Given the description of an element on the screen output the (x, y) to click on. 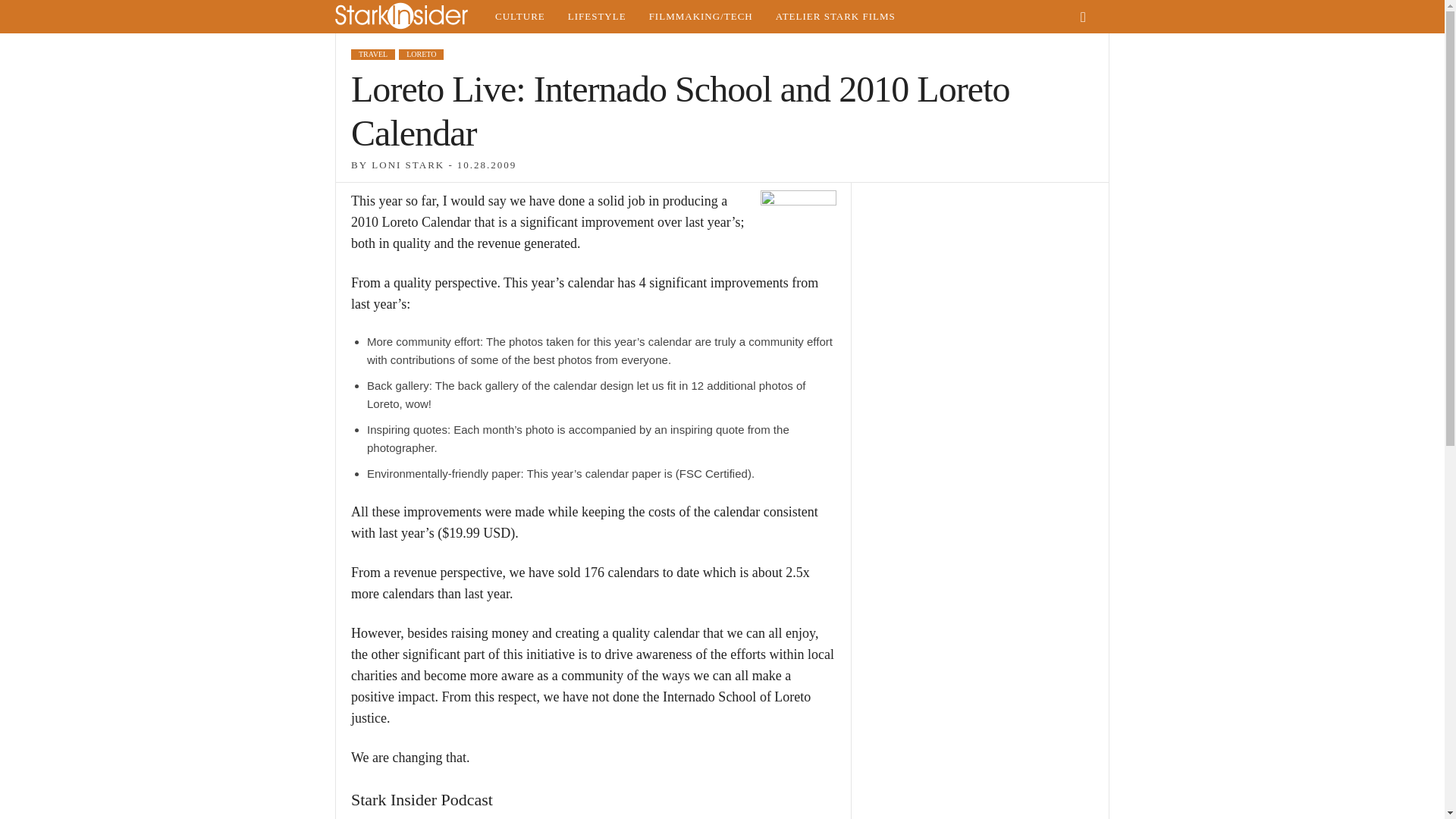
ATELIER STARK FILMS (835, 16)
LONI STARK (407, 164)
Loreto Live (797, 228)
LORETO (421, 54)
CULTURE (519, 16)
Indie film, music, arts in San Francisco and Silicon Valley (519, 16)
Tech, gadgets, camera news and reviews from Silicon Valley (700, 16)
TRAVEL (372, 54)
Stark Insider (408, 16)
LIFESTYLE (596, 16)
